Given the description of an element on the screen output the (x, y) to click on. 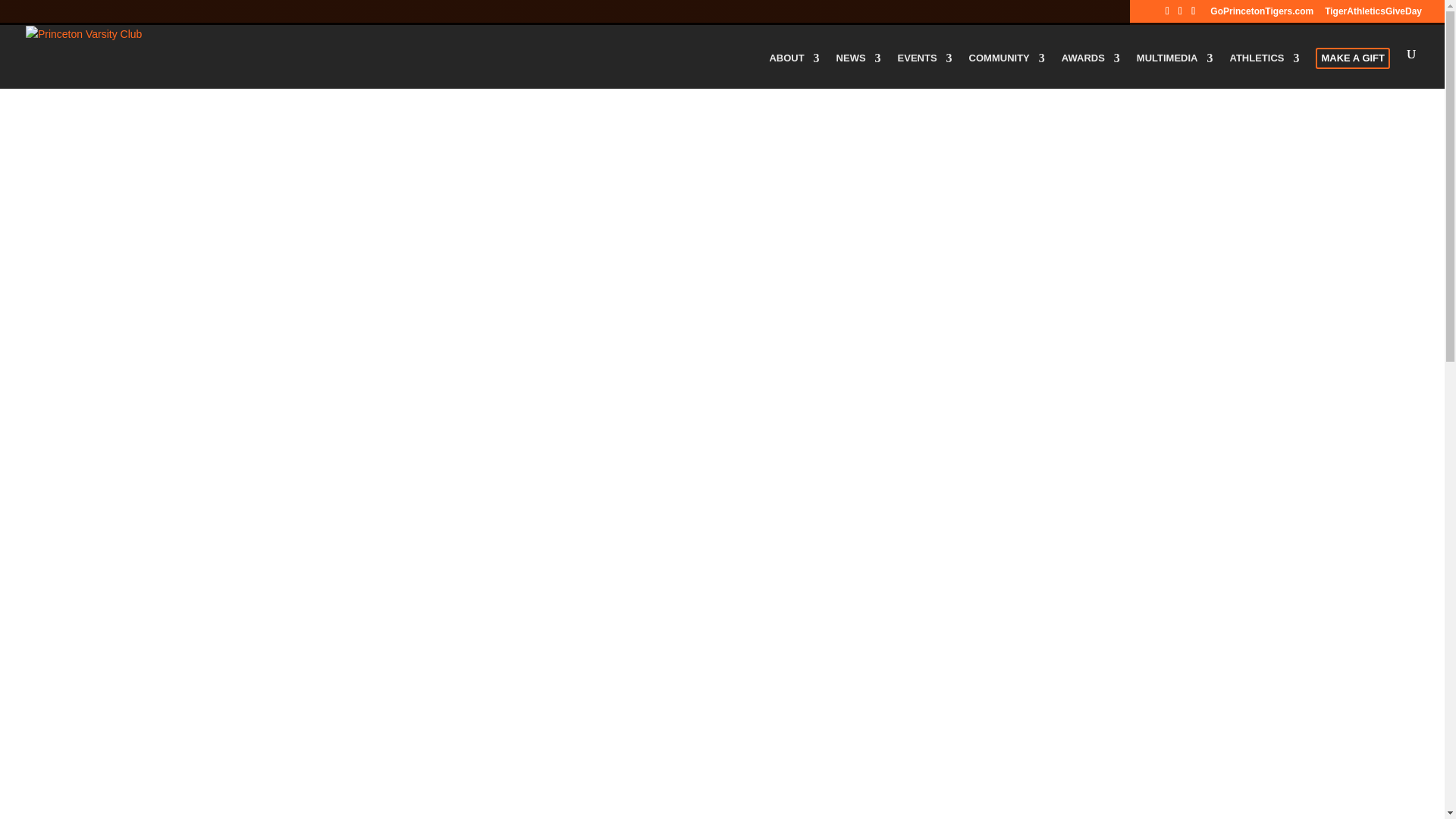
NEWS (857, 70)
EVENTS (925, 70)
COMMUNITY (1007, 70)
GoPrincetonTigers.com (1261, 14)
ABOUT (793, 70)
AWARDS (1090, 70)
TigerAthleticsGiveDay (1373, 14)
